Given the description of an element on the screen output the (x, y) to click on. 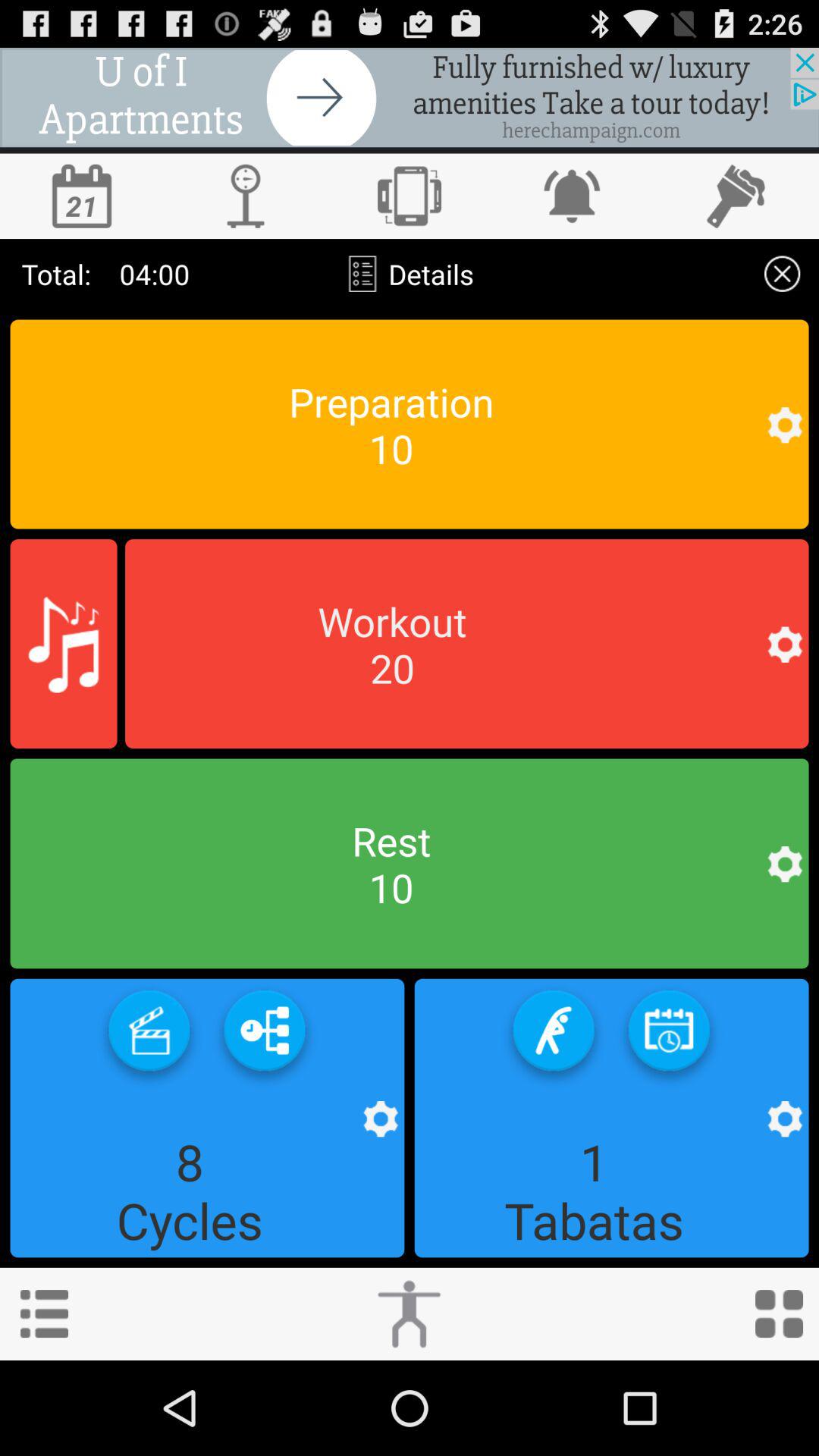
details more (782, 273)
